Given the description of an element on the screen output the (x, y) to click on. 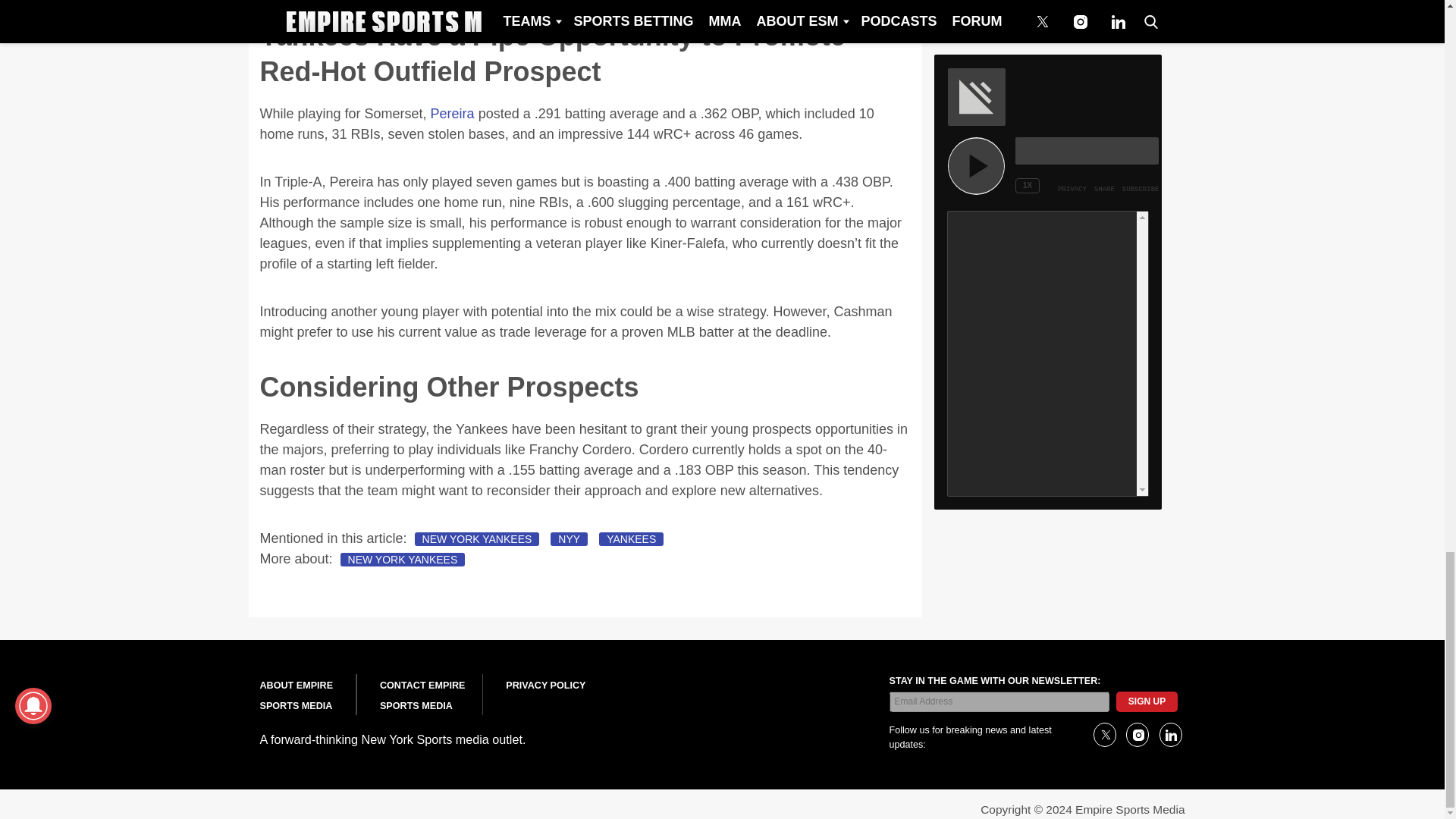
Pereira (452, 113)
NEW YORK YANKEES (477, 539)
NYY (569, 539)
YANKEES (630, 539)
NEW YORK YANKEES (402, 559)
